Given the description of an element on the screen output the (x, y) to click on. 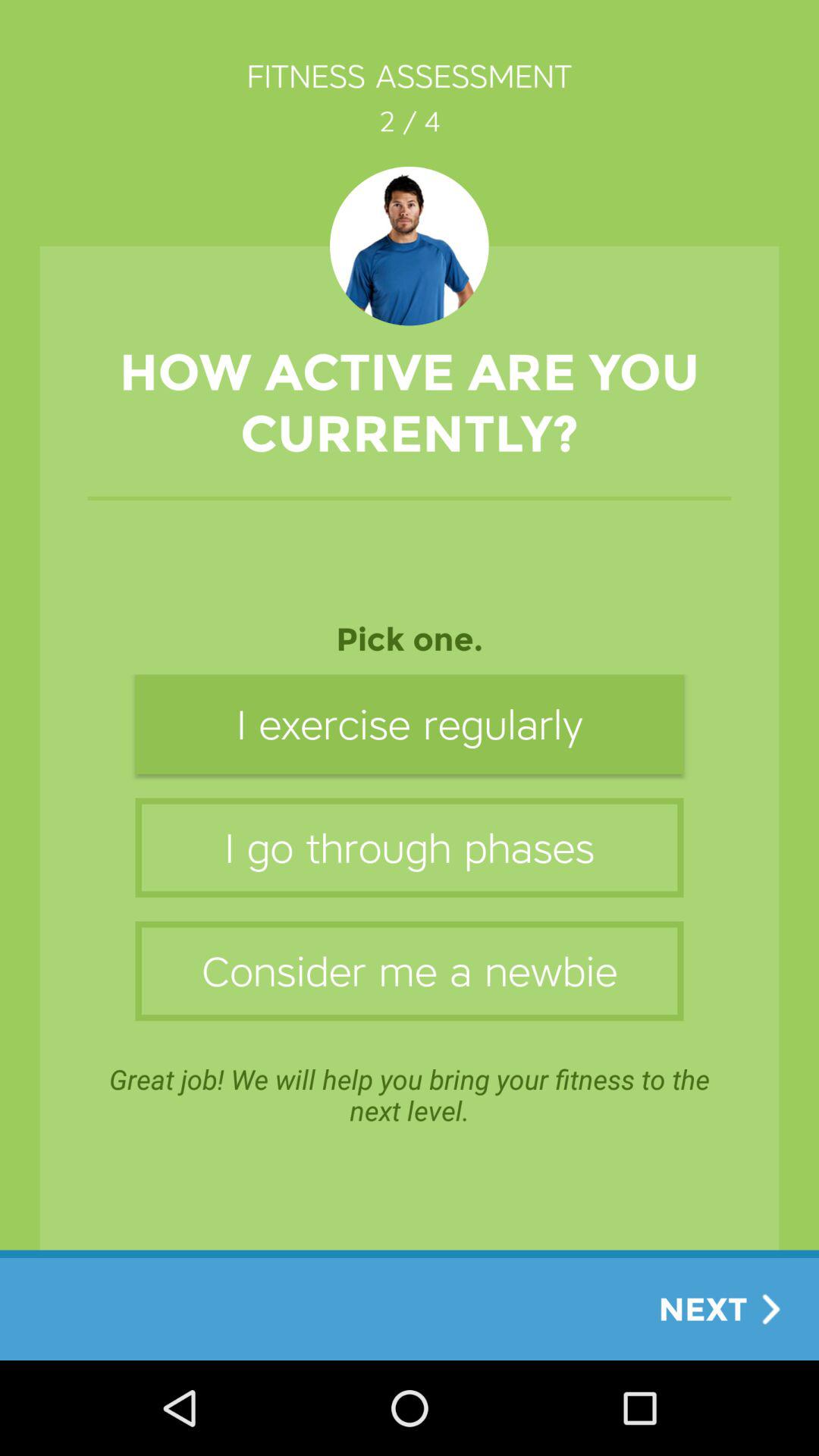
scroll to i exercise regularly icon (409, 724)
